Given the description of an element on the screen output the (x, y) to click on. 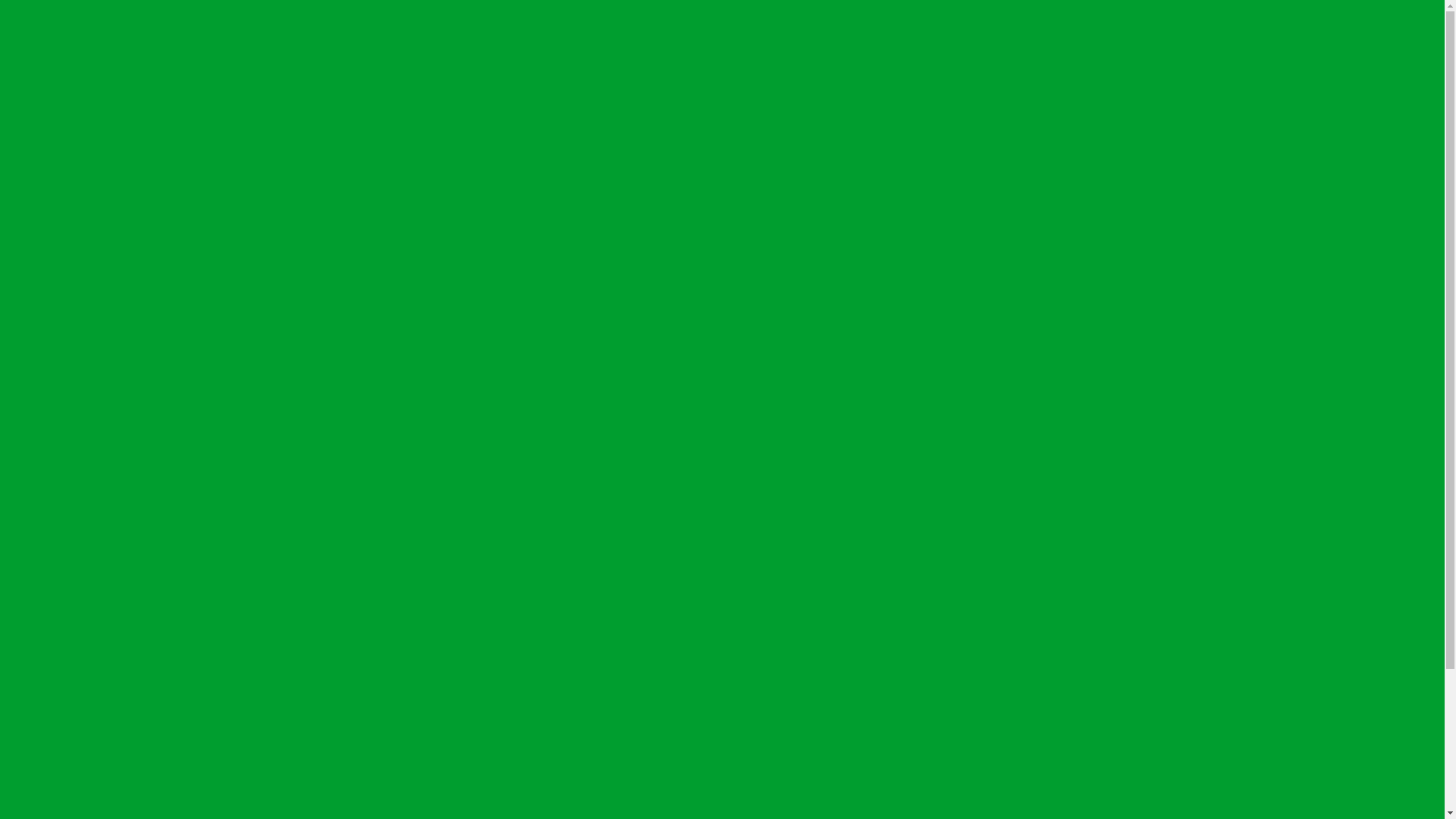
2 Element type: text (39, 380)
+375 (29) 644-49-69 Element type: text (56, 759)
112 Element type: text (44, 407)
114 Element type: text (44, 435)
117 Element type: text (44, 476)
113 Element type: text (44, 421)
183 Element type: text (45, 517)
118 Element type: text (44, 489)
+375 (29) 753-70-49 Element type: text (56, 773)
+375 (29) 644-49-69 Element type: text (56, 160)
1 Element type: text (39, 366)
116 Element type: text (44, 462)
+375 (29) 753-70-49 Element type: text (161, 160)
andrei_yv1 Element type: text (69, 787)
184 Element type: text (45, 530)
